Given the description of an element on the screen output the (x, y) to click on. 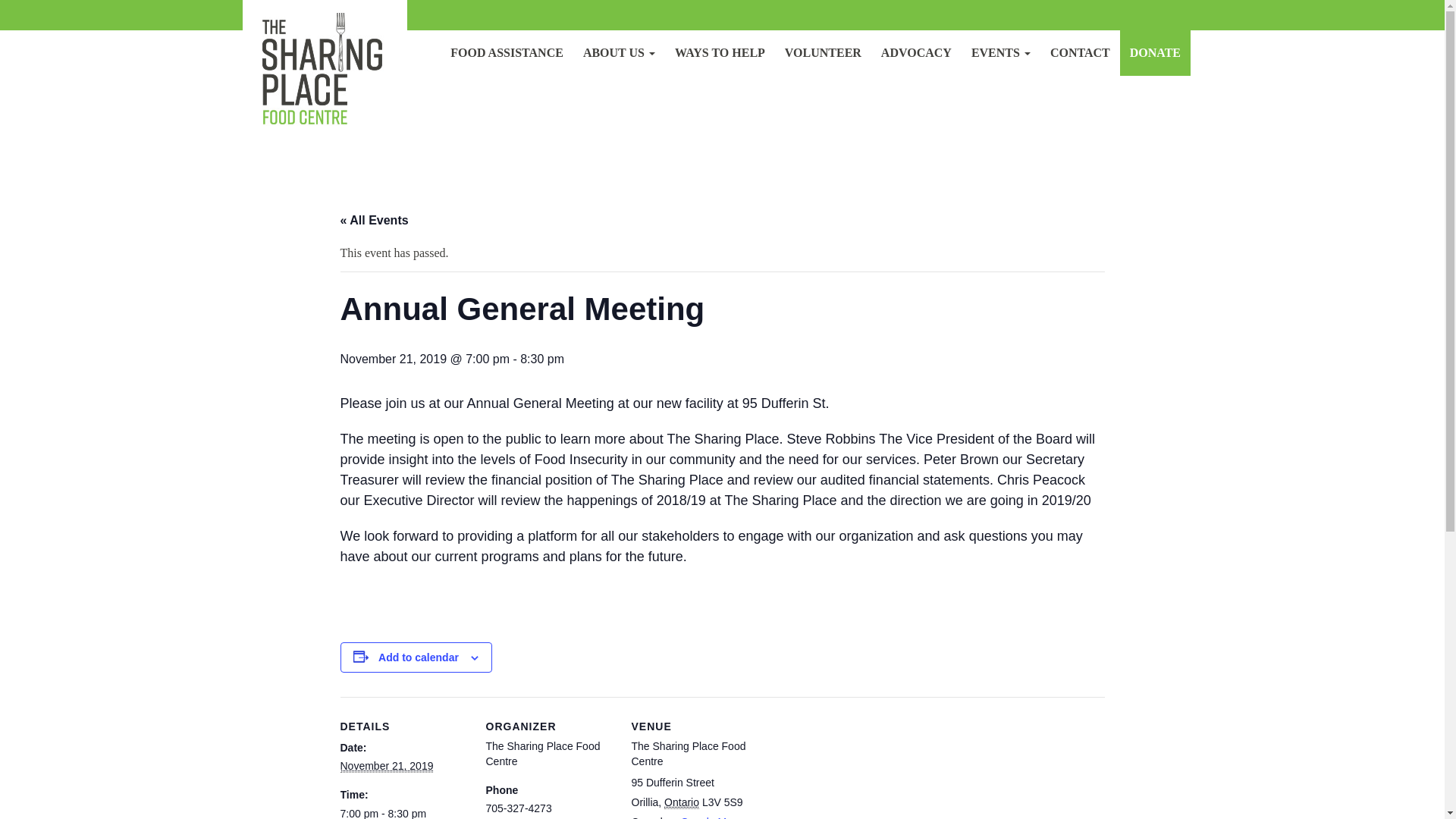
WAYS TO HELP (719, 53)
VOLUNTEER (822, 53)
EVENTS (1000, 53)
2019-11-21 (403, 812)
Add to calendar (418, 657)
FOOD ASSISTANCE (507, 53)
CONTACT (1080, 53)
2019-11-21 (385, 766)
Click to view a Google Map (704, 817)
